Given the description of an element on the screen output the (x, y) to click on. 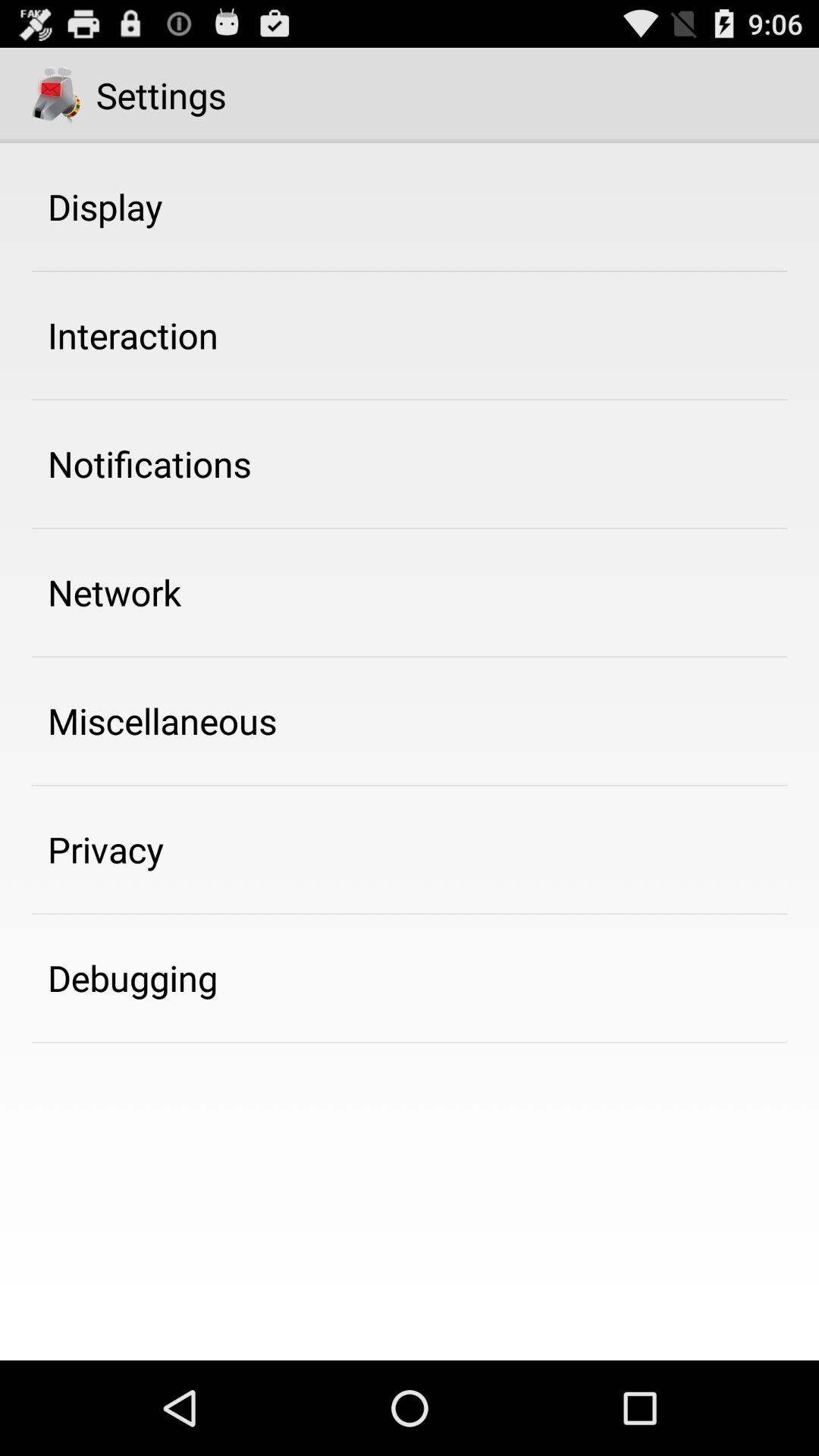
choose icon above debugging app (105, 849)
